Given the description of an element on the screen output the (x, y) to click on. 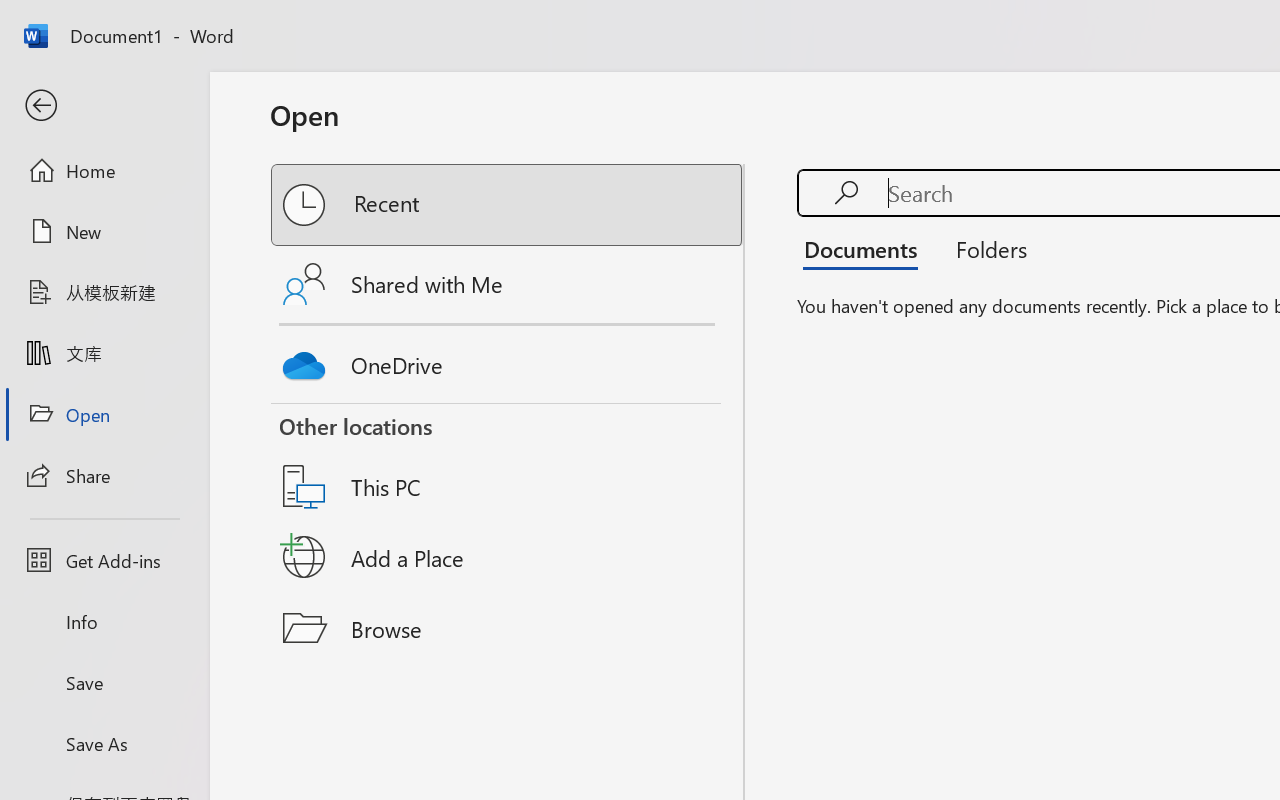
Save As (104, 743)
OneDrive (507, 359)
